Given the description of an element on the screen output the (x, y) to click on. 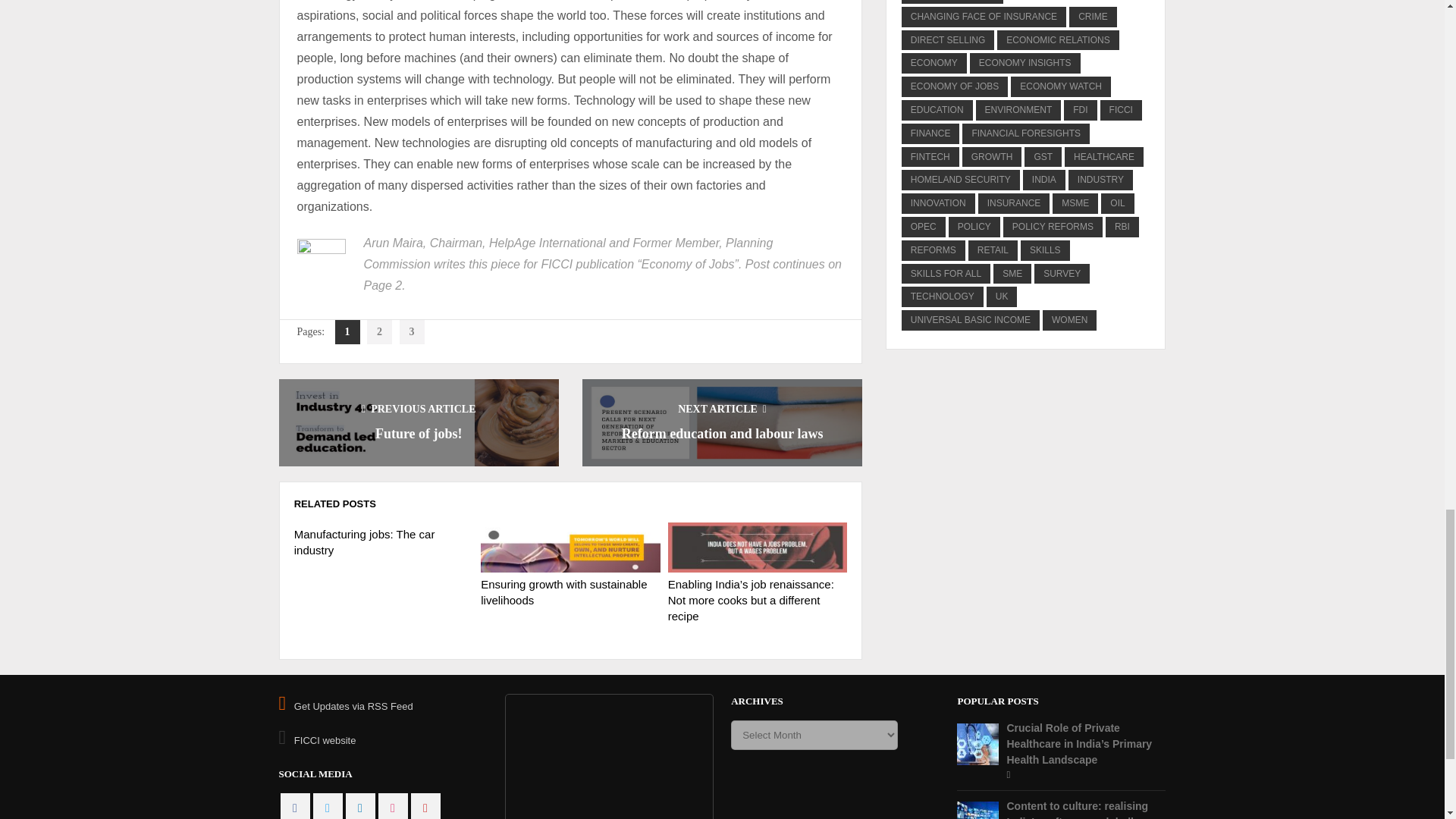
3 (411, 331)
Future of jobs! (419, 433)
2 (378, 331)
Manufacturing jobs: The car industry (364, 541)
Ensuring growth with sustainable livelihoods (563, 592)
Manufacturing jobs: The car industry (364, 541)
Ensuring growth with sustainable livelihoods (563, 592)
Reform education and labour laws (722, 433)
Ensuring growth with sustainable livelihoods (569, 546)
